Given the description of an element on the screen output the (x, y) to click on. 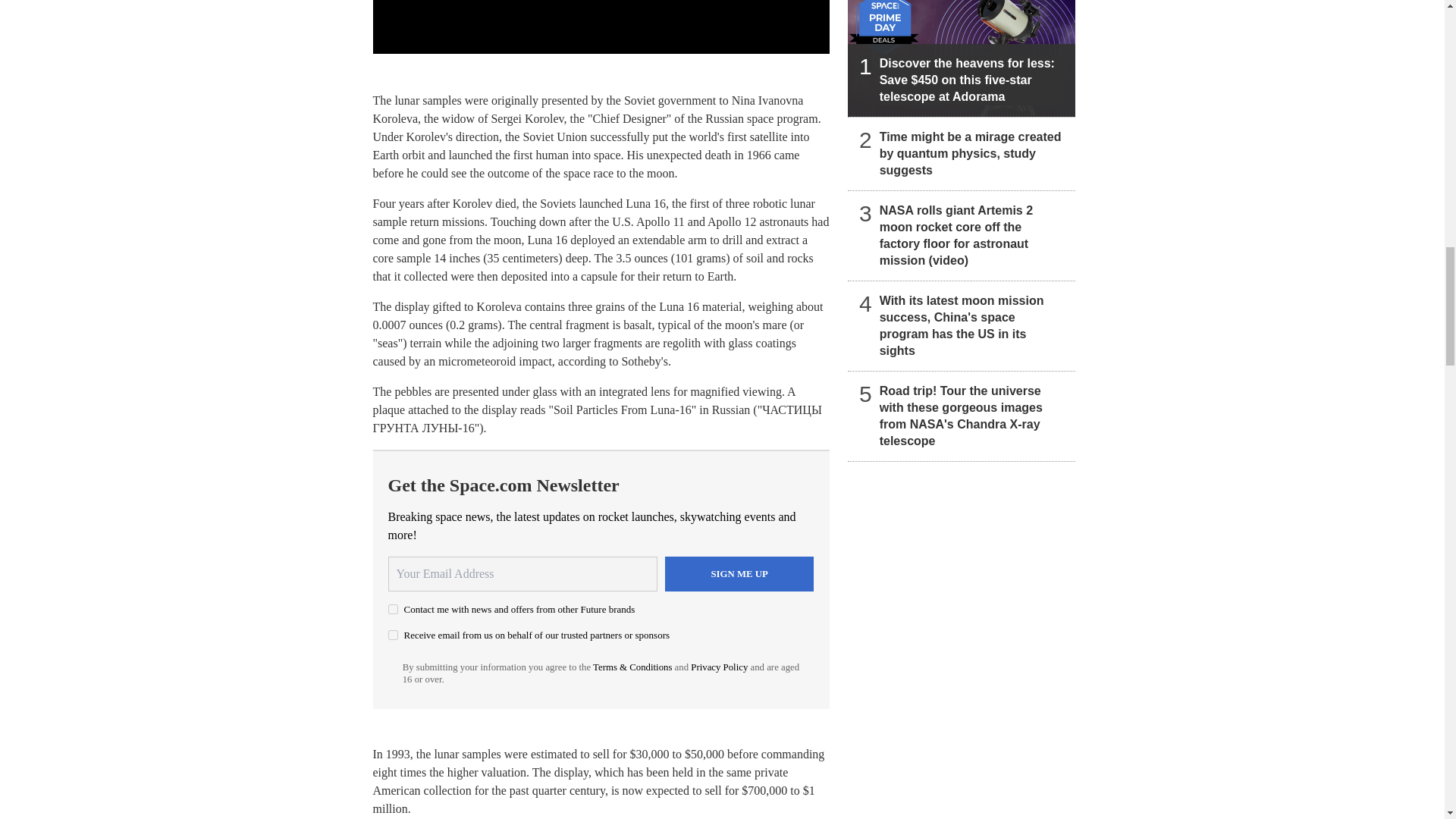
on (392, 634)
on (392, 609)
Sign me up (739, 573)
